Given the description of an element on the screen output the (x, y) to click on. 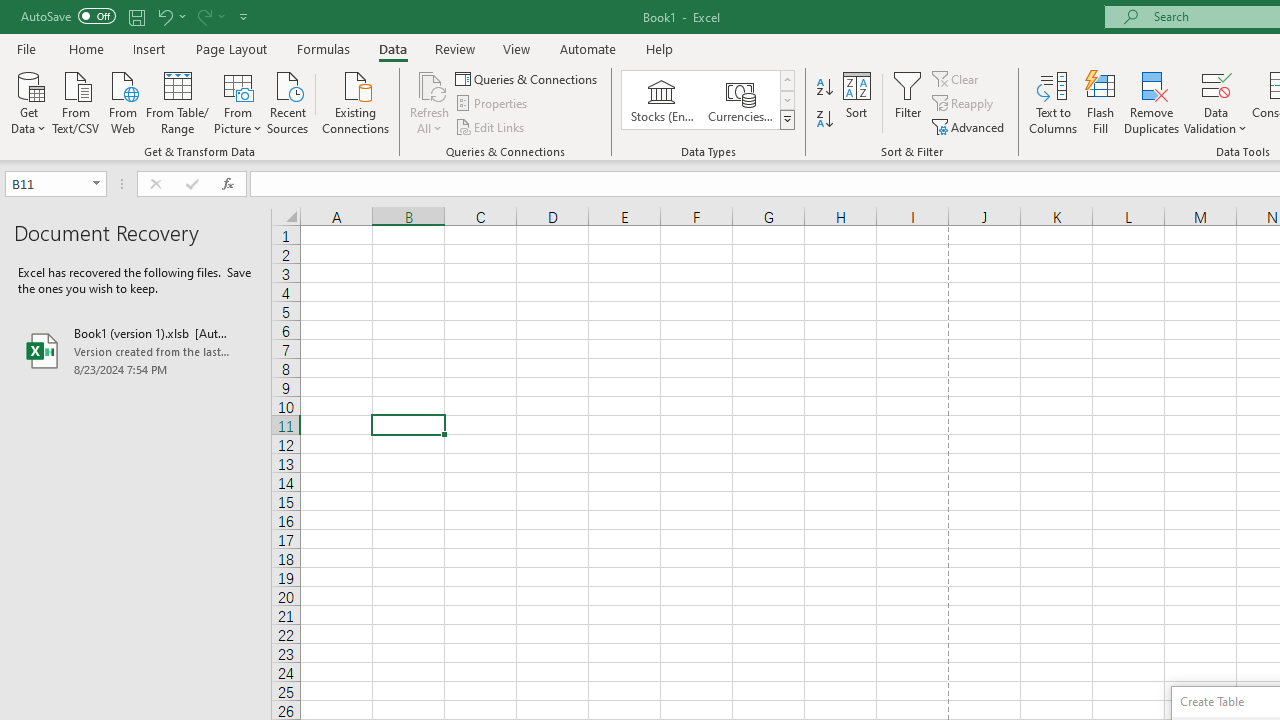
Queries & Connections (527, 78)
Sort... (856, 102)
More Options (1215, 121)
Row Down (786, 100)
Stocks (English) (662, 100)
Flash Fill (1101, 102)
Data (392, 48)
Row up (786, 79)
Clear (957, 78)
Data Validation... (1215, 102)
AutoSave (68, 16)
Sort A to Z (824, 87)
Text to Columns... (1053, 102)
